Given the description of an element on the screen output the (x, y) to click on. 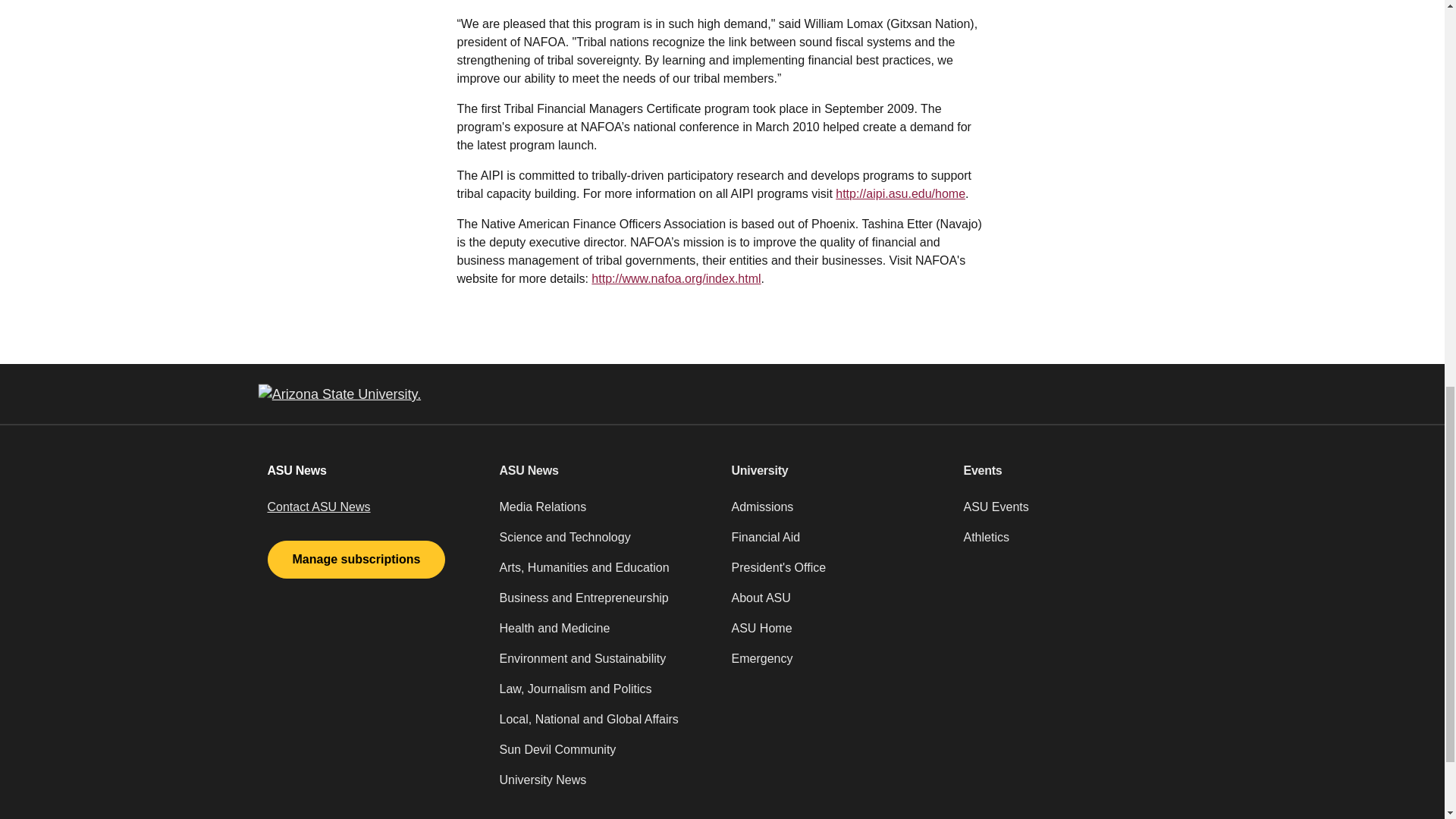
Business and Entrepreneurship (606, 603)
Emergency (837, 665)
Local, National and Global Affairs (606, 725)
Events (1069, 470)
University News (606, 786)
Sun Devil Community (606, 756)
Law, Journalism and Politics (606, 695)
ASU Events (1069, 512)
Science and Technology (606, 543)
Athletics (1069, 543)
